Given the description of an element on the screen output the (x, y) to click on. 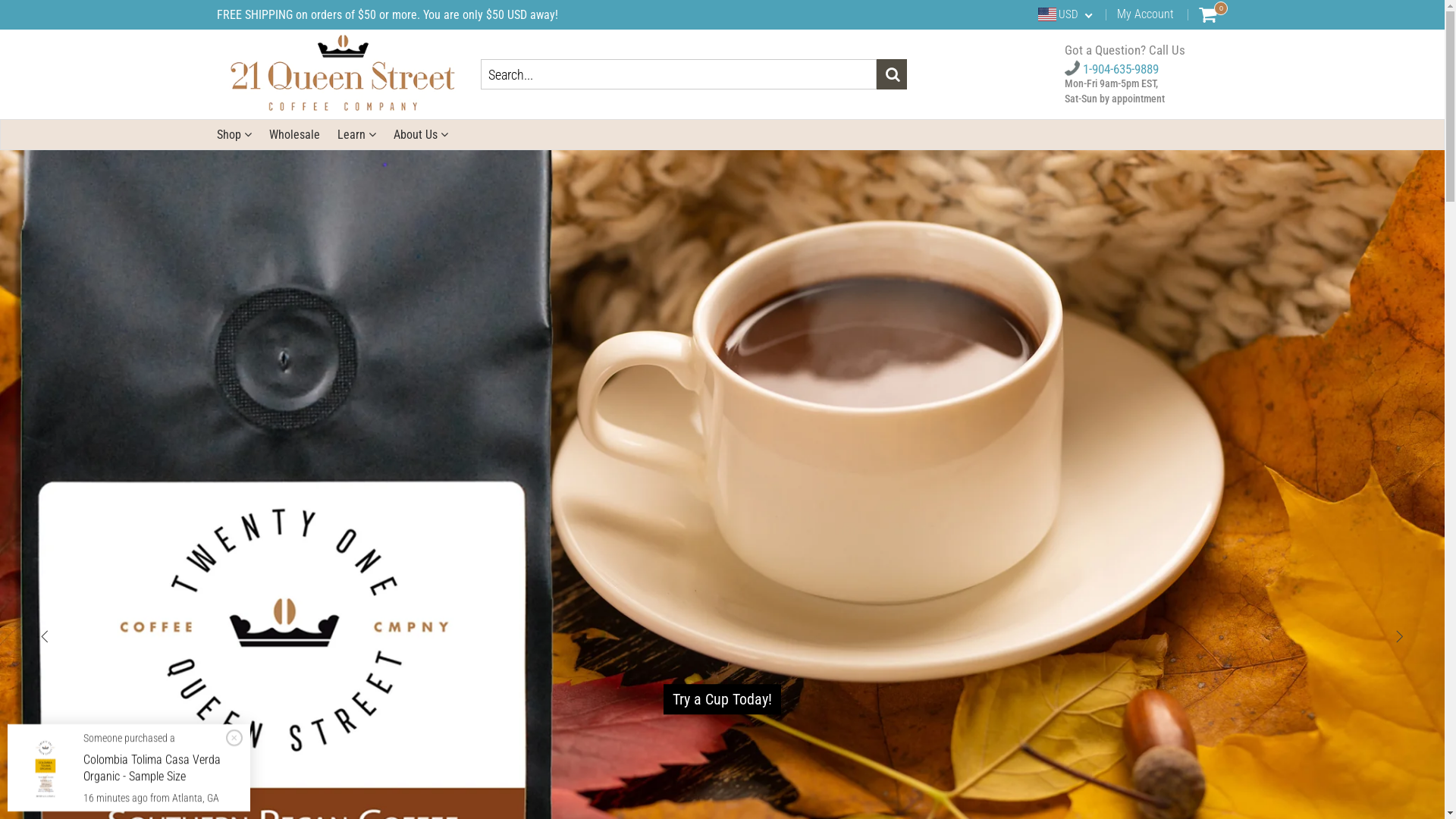
0 Element type: text (1207, 14)
About Us Element type: text (419, 134)
Wholesale Element type: text (293, 134)
Learn Element type: text (355, 134)
Shop Element type: text (233, 134)
Colombia Tolima Casa Verda Organic - Sample Size Element type: text (151, 767)
1-904-635-9889 Element type: text (1111, 68)
Try a Cup Today! Element type: text (722, 699)
My Account Element type: text (1145, 13)
    Element type: text (722, 632)
